Given the description of an element on the screen output the (x, y) to click on. 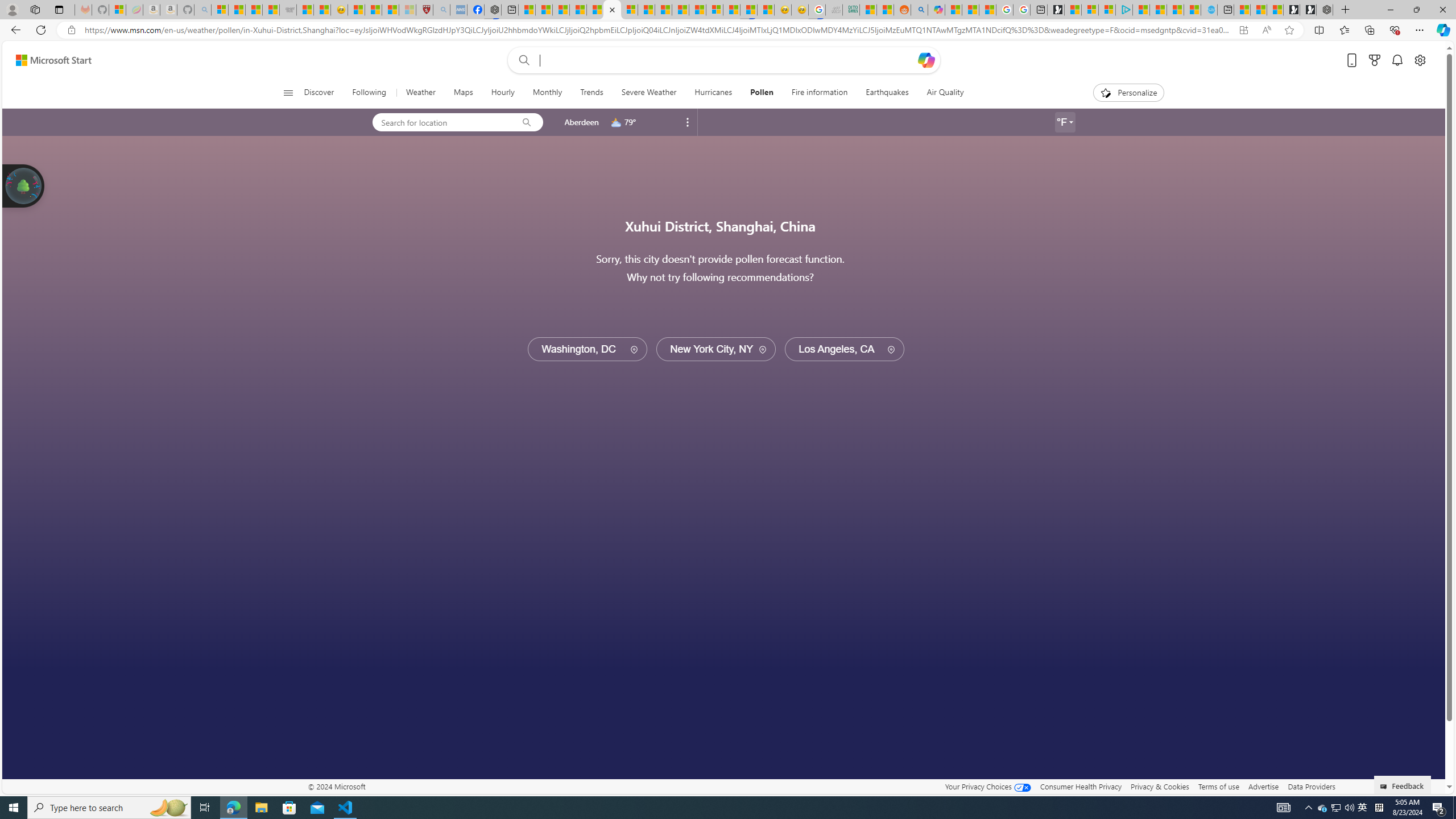
Fire information (818, 92)
Monthly (547, 92)
Aberdeen (581, 121)
Pollen (762, 92)
Monthly (547, 92)
Maps (462, 92)
